Given the description of an element on the screen output the (x, y) to click on. 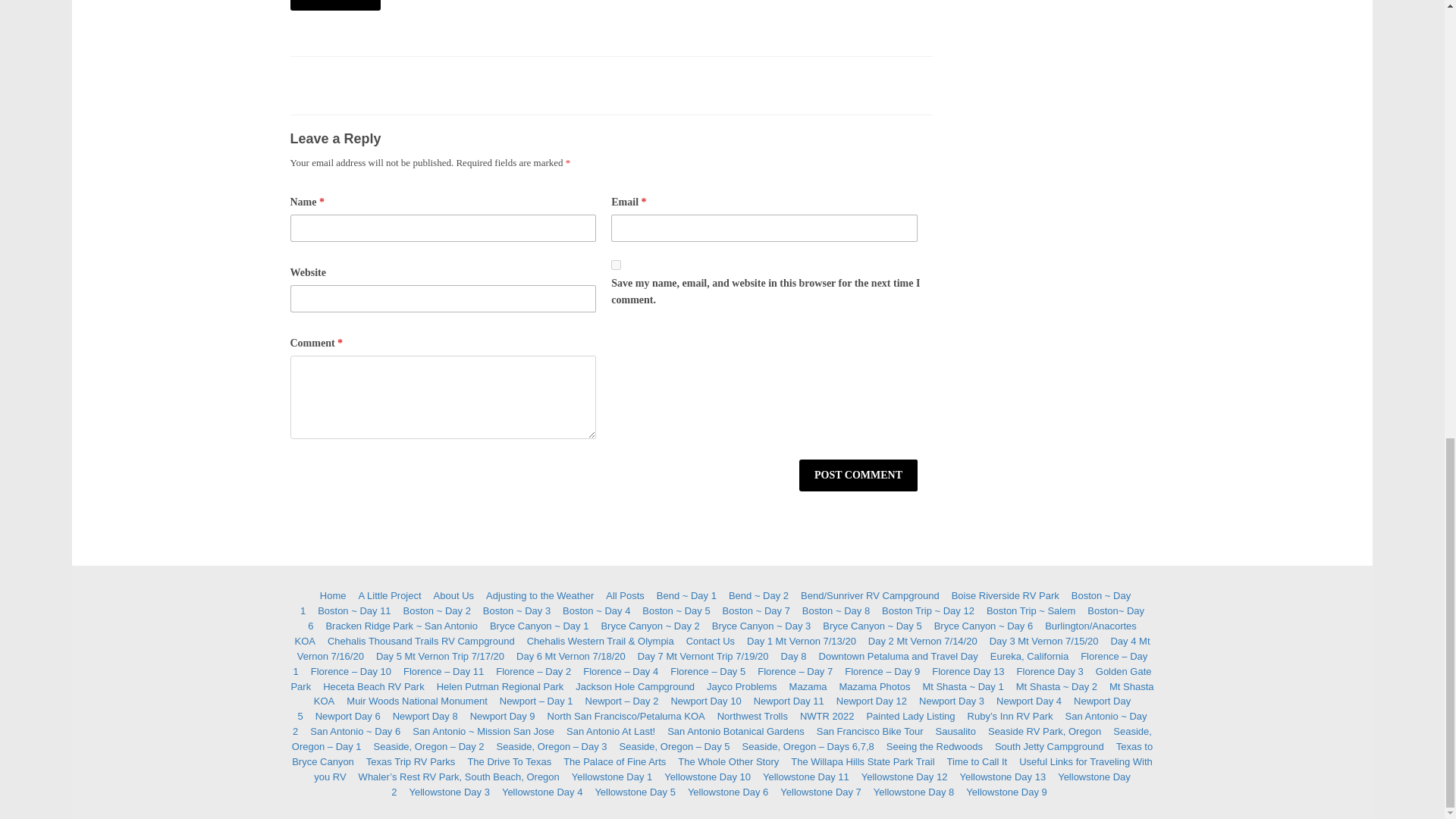
All Posts (625, 595)
Home (333, 595)
Previous Post (306, 509)
Next Post (915, 509)
yes (616, 265)
Subscribe (334, 5)
About Us (453, 595)
Post Comment (858, 475)
A Little Project (389, 595)
Subscribe (334, 5)
